Given the description of an element on the screen output the (x, y) to click on. 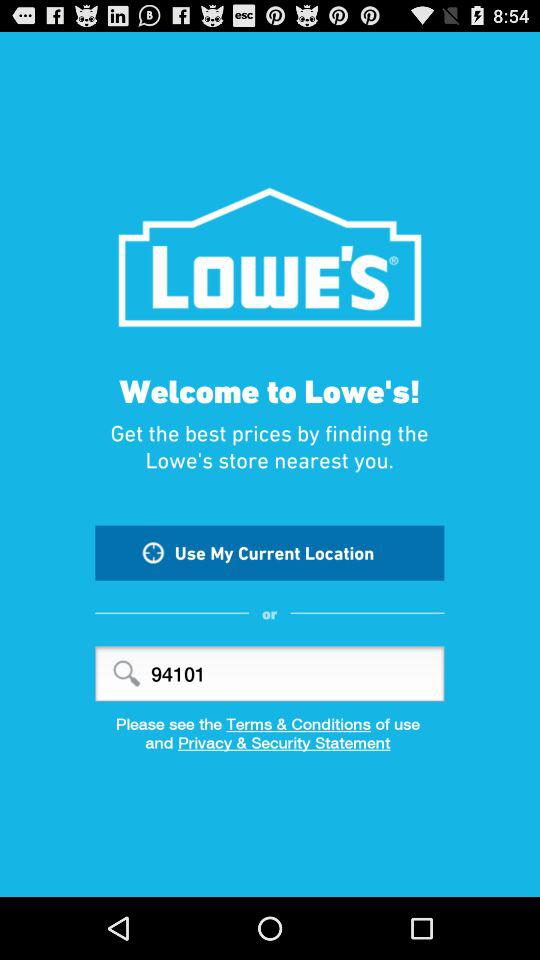
turn off item above the and privacy security icon (270, 723)
